Given the description of an element on the screen output the (x, y) to click on. 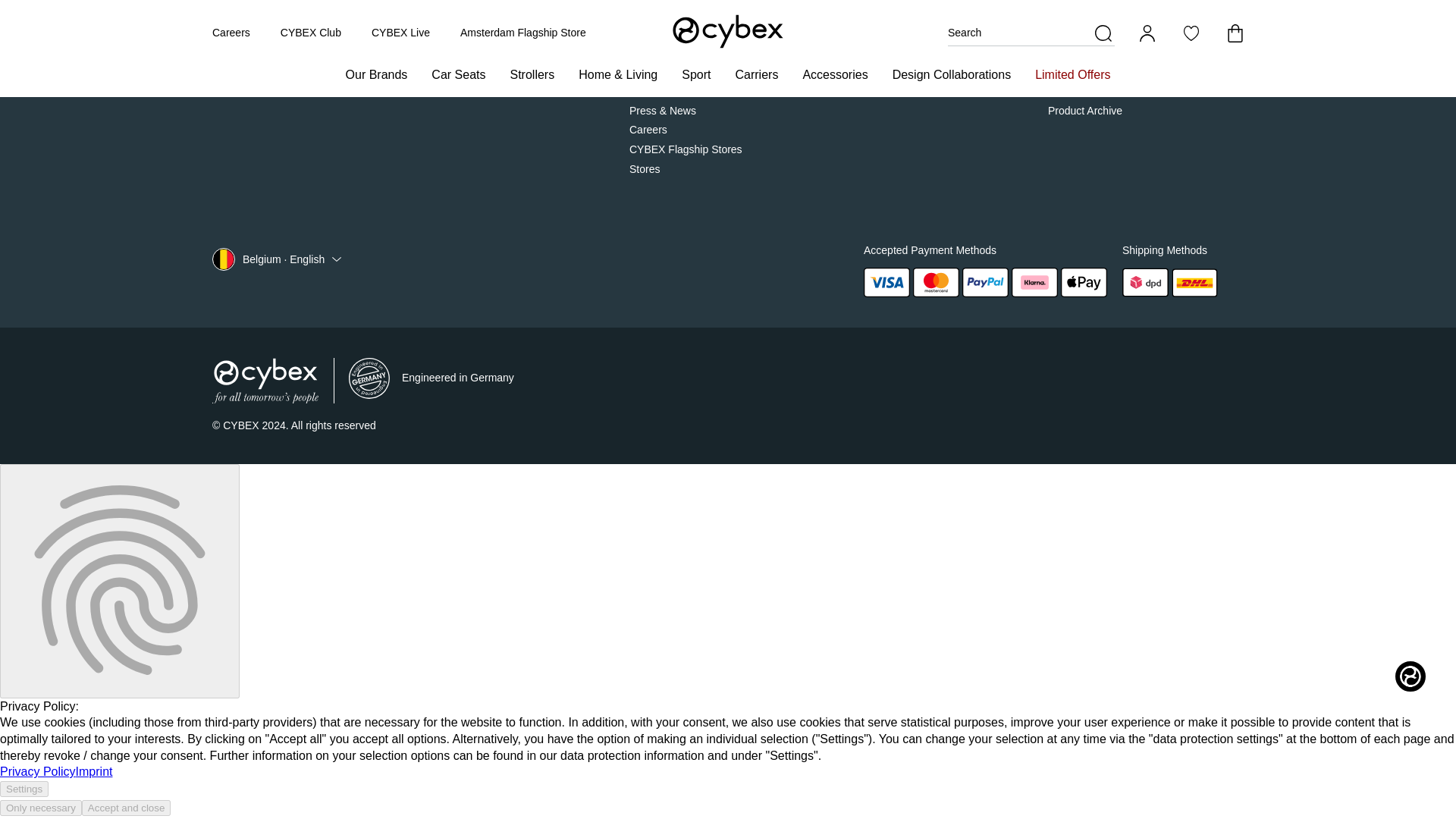
CYBEX for all tomorrow's people (265, 380)
